Given the description of an element on the screen output the (x, y) to click on. 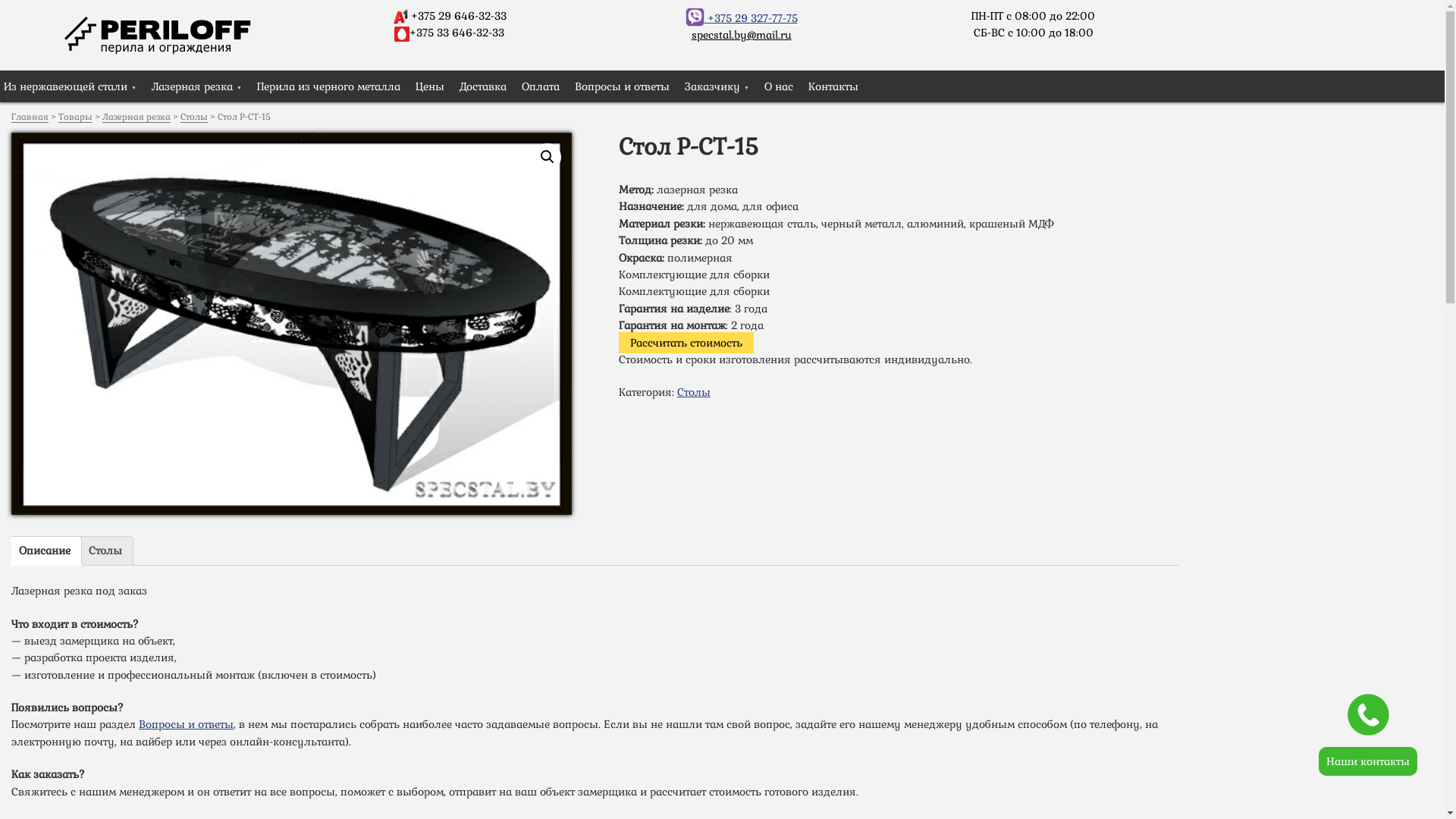
+375 29 646-32-33 Element type: text (458, 15)
+375 29 327-77-75 Element type: text (741, 18)
+375 33 646-32-33 Element type: text (456, 32)
specstal.by@mail.ru Element type: text (741, 34)
